Given the description of an element on the screen output the (x, y) to click on. 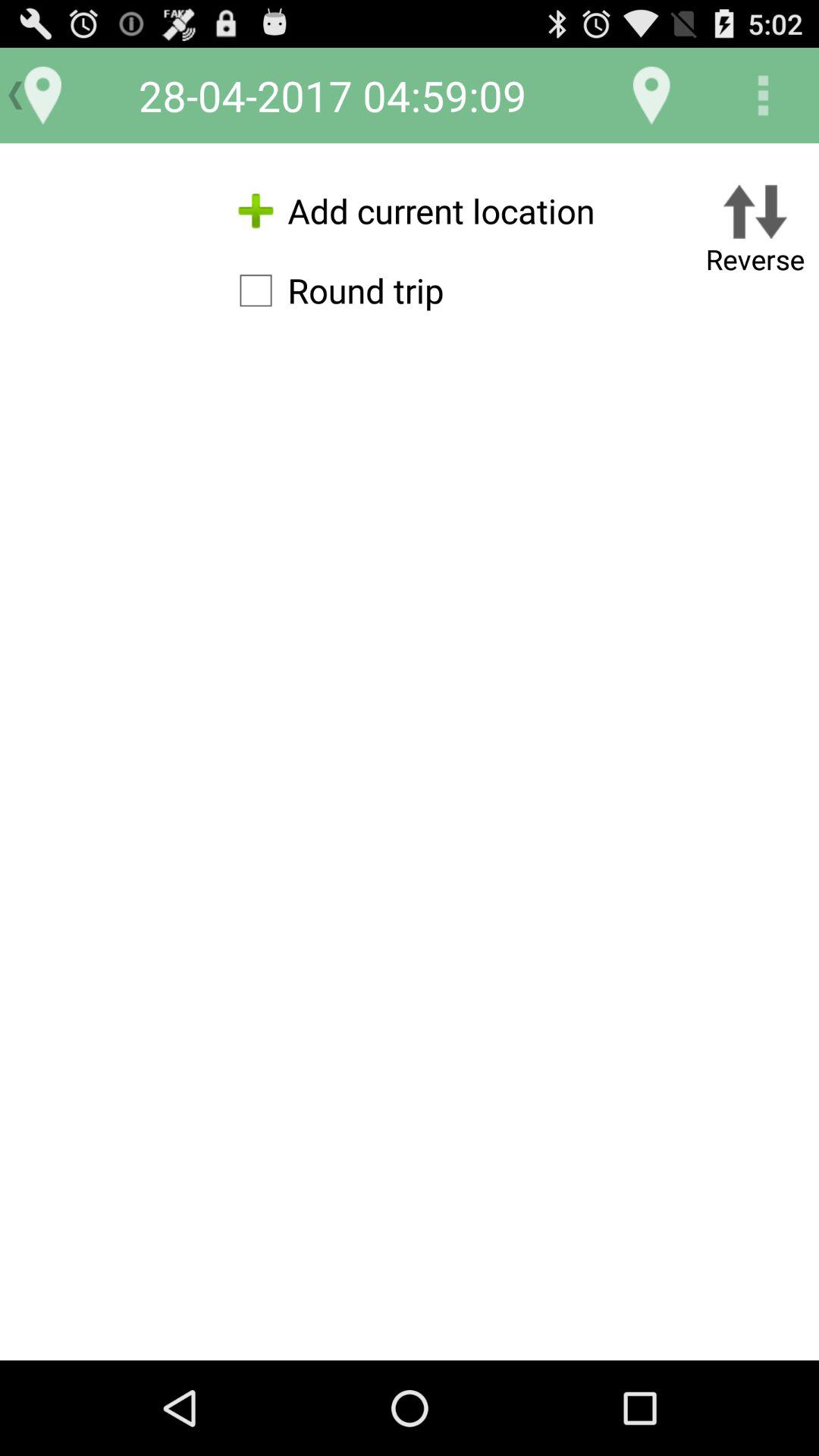
launch item next to 28 04 2017 app (651, 95)
